Given the description of an element on the screen output the (x, y) to click on. 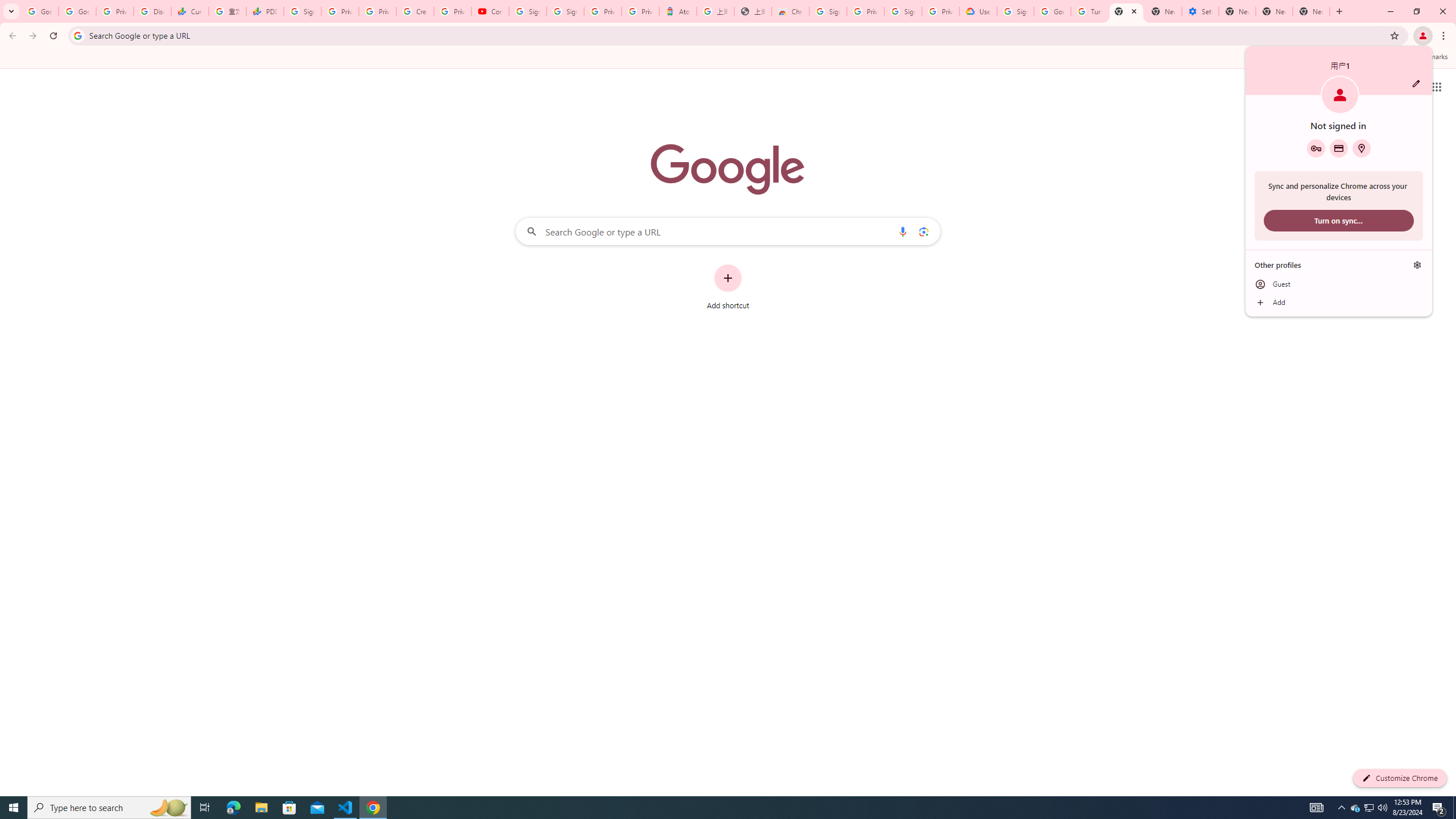
New Tab (1311, 11)
